Given the description of an element on the screen output the (x, y) to click on. 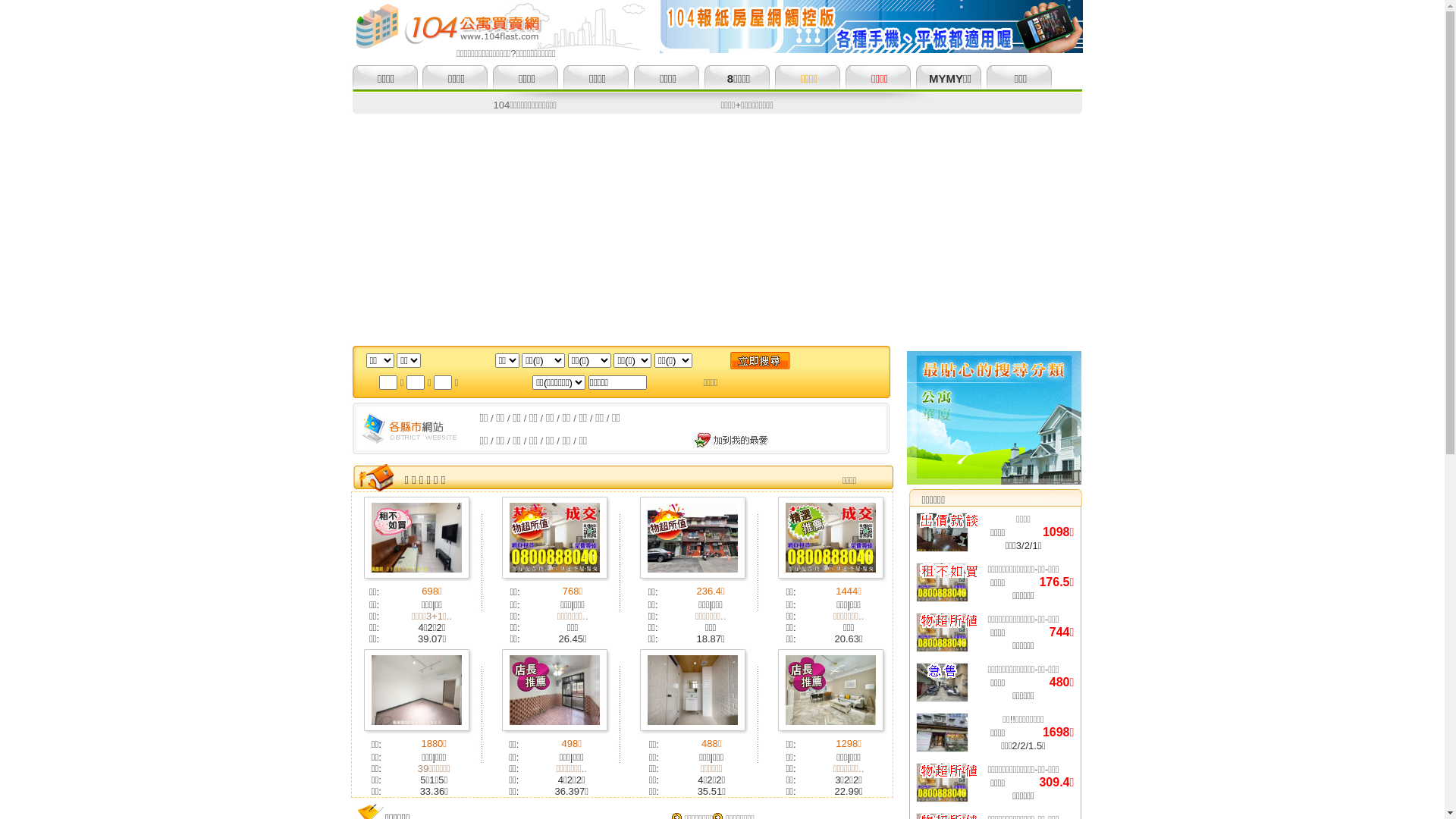
Advertisement Element type: hover (721, 227)
